Given the description of an element on the screen output the (x, y) to click on. 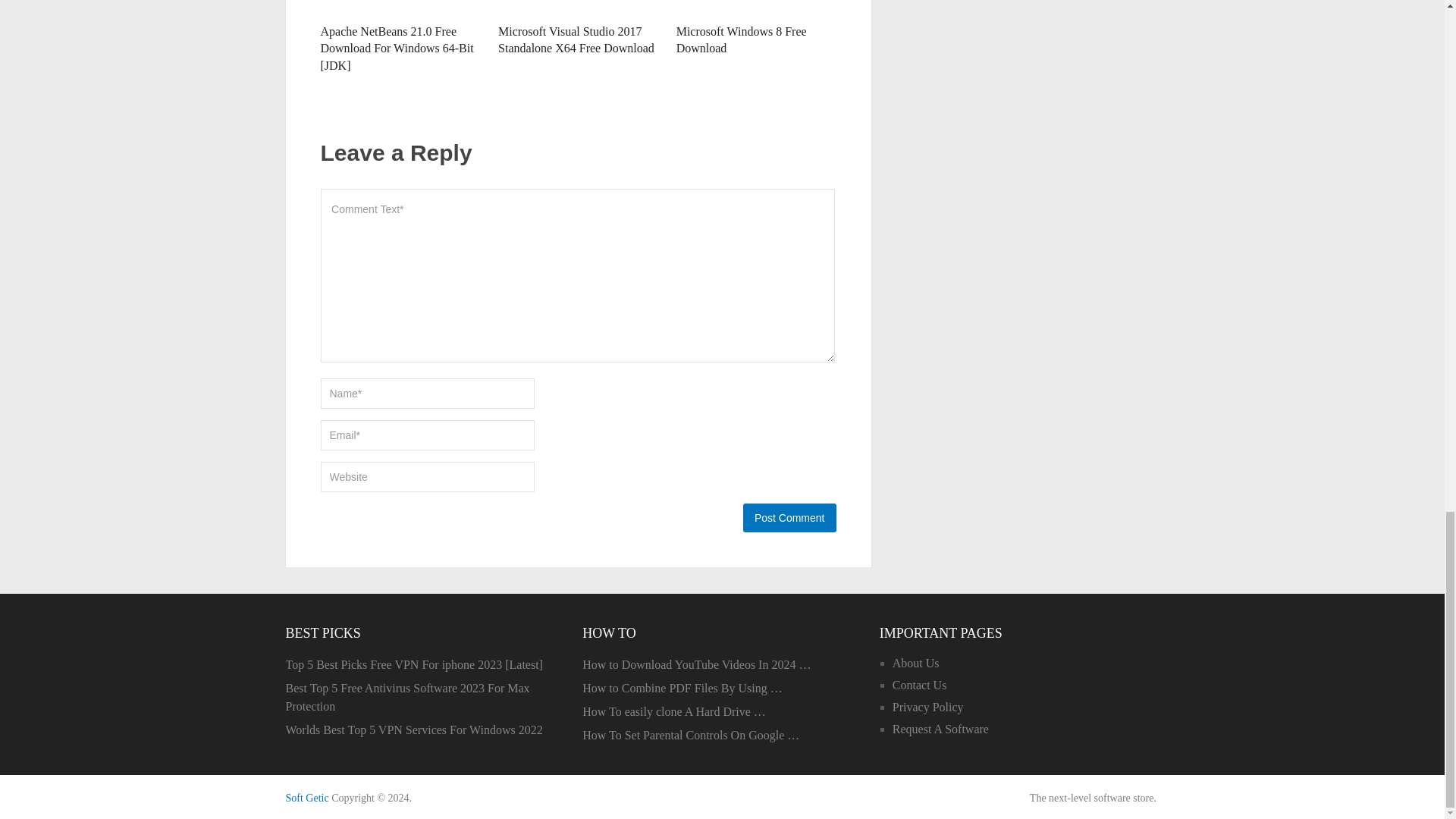
Microsoft Visual Studio 2017 Standalone X64 Free Download (577, 7)
Post Comment (788, 517)
Post Comment (788, 517)
Best Top 5 Free Antivirus Software 2023 For Max Protection (424, 697)
Microsoft Visual Studio 2017 Standalone X64 Free Download (575, 39)
Microsoft Windows 8 Free Download (741, 39)
Microsoft Windows 8 Free Download (741, 39)
Microsoft Visual Studio 2017 Standalone X64 Free Download (575, 39)
Worlds Best Top 5 VPN Services For Windows 2022 (424, 730)
Microsoft Windows 8 Free Download (756, 7)
